Given the description of an element on the screen output the (x, y) to click on. 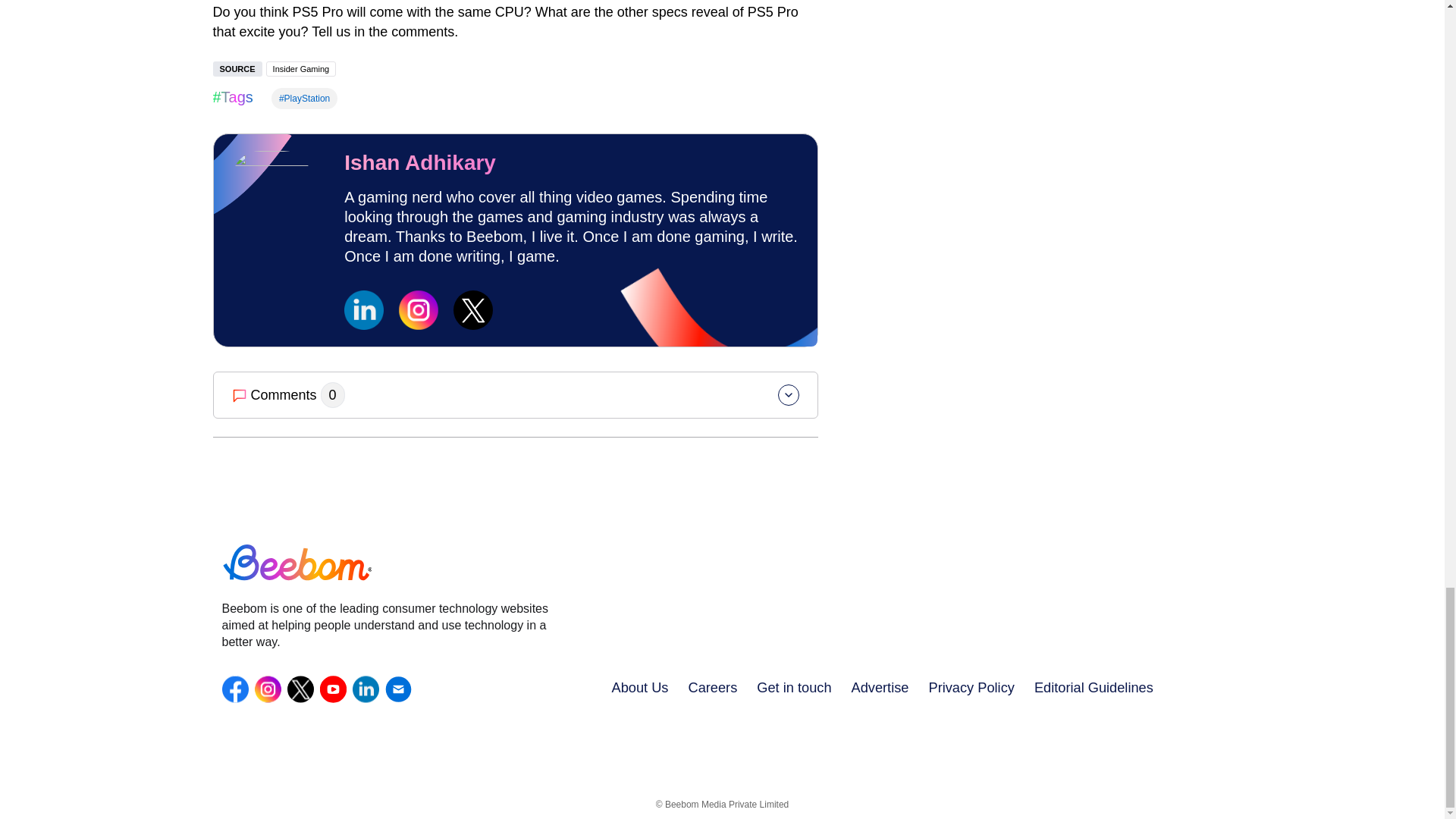
Beebom (386, 564)
Facebook (234, 688)
Twitter (299, 688)
LinkedIn (365, 688)
Instagram (267, 688)
YouTube (333, 688)
Mail (398, 688)
